Given the description of an element on the screen output the (x, y) to click on. 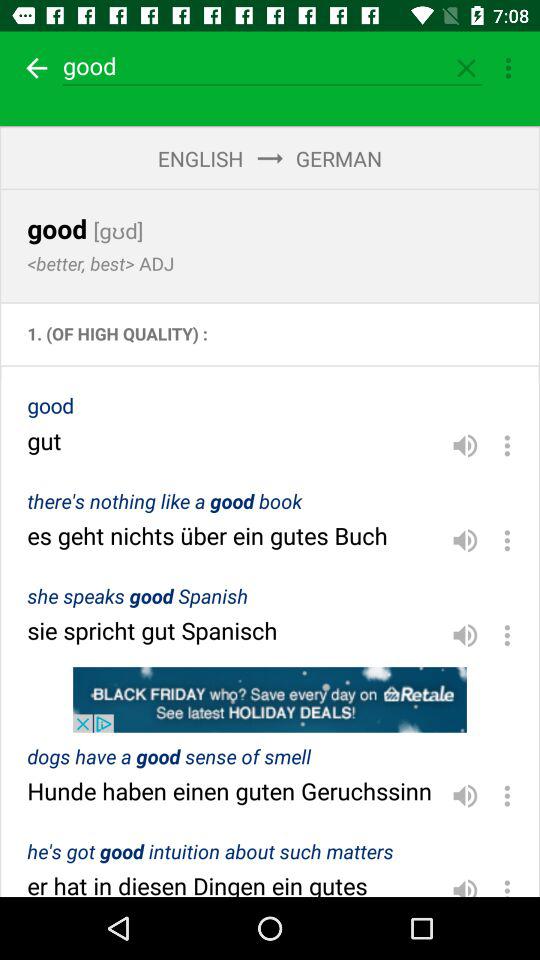
go back option (33, 68)
